Given the description of an element on the screen output the (x, y) to click on. 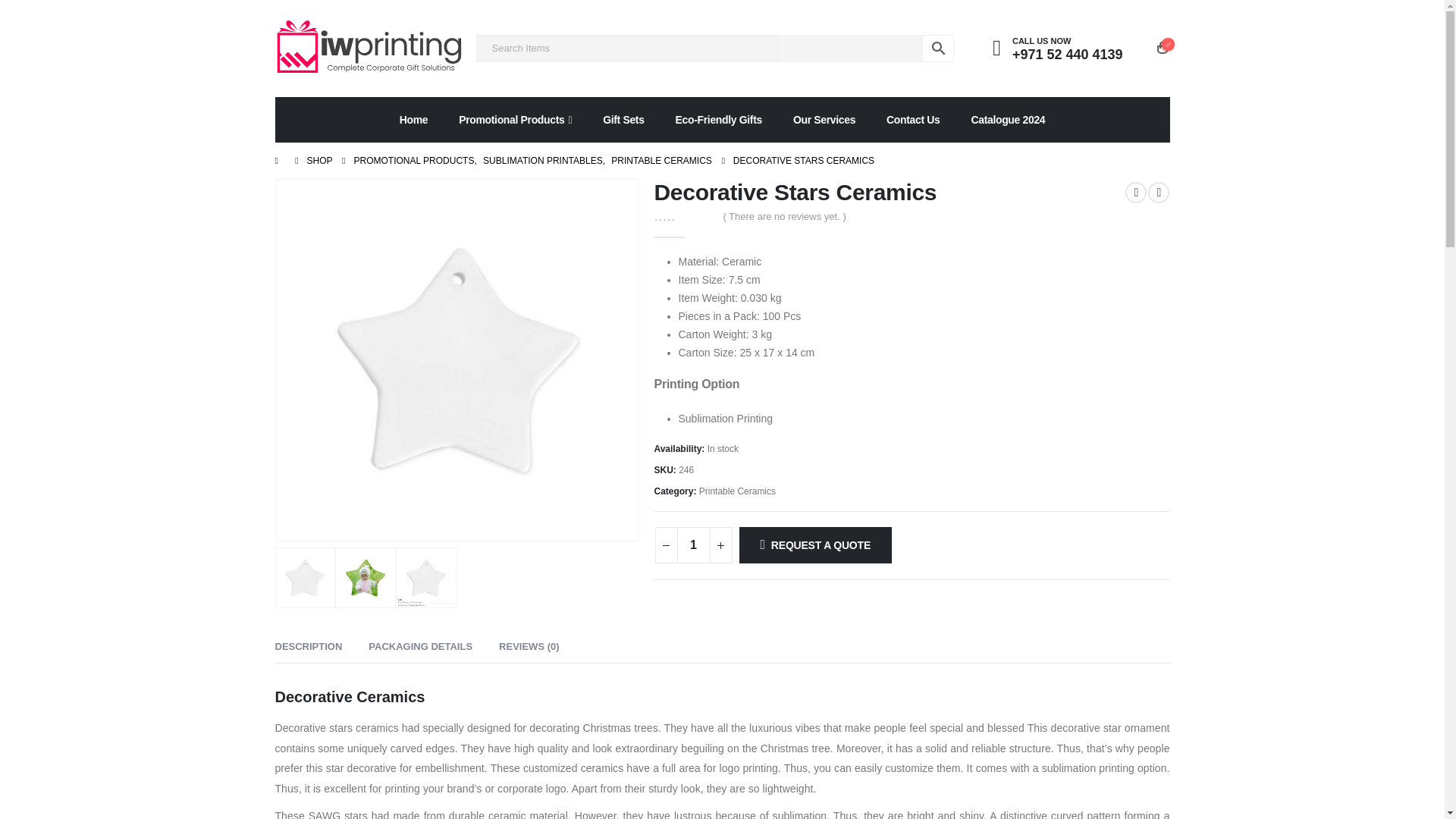
Promotional Products (515, 119)
Stars-Ceramic-Ornaments-246-main-t-1.jpg (456, 359)
1 (693, 545)
0 (683, 215)
Home (414, 119)
